Given the description of an element on the screen output the (x, y) to click on. 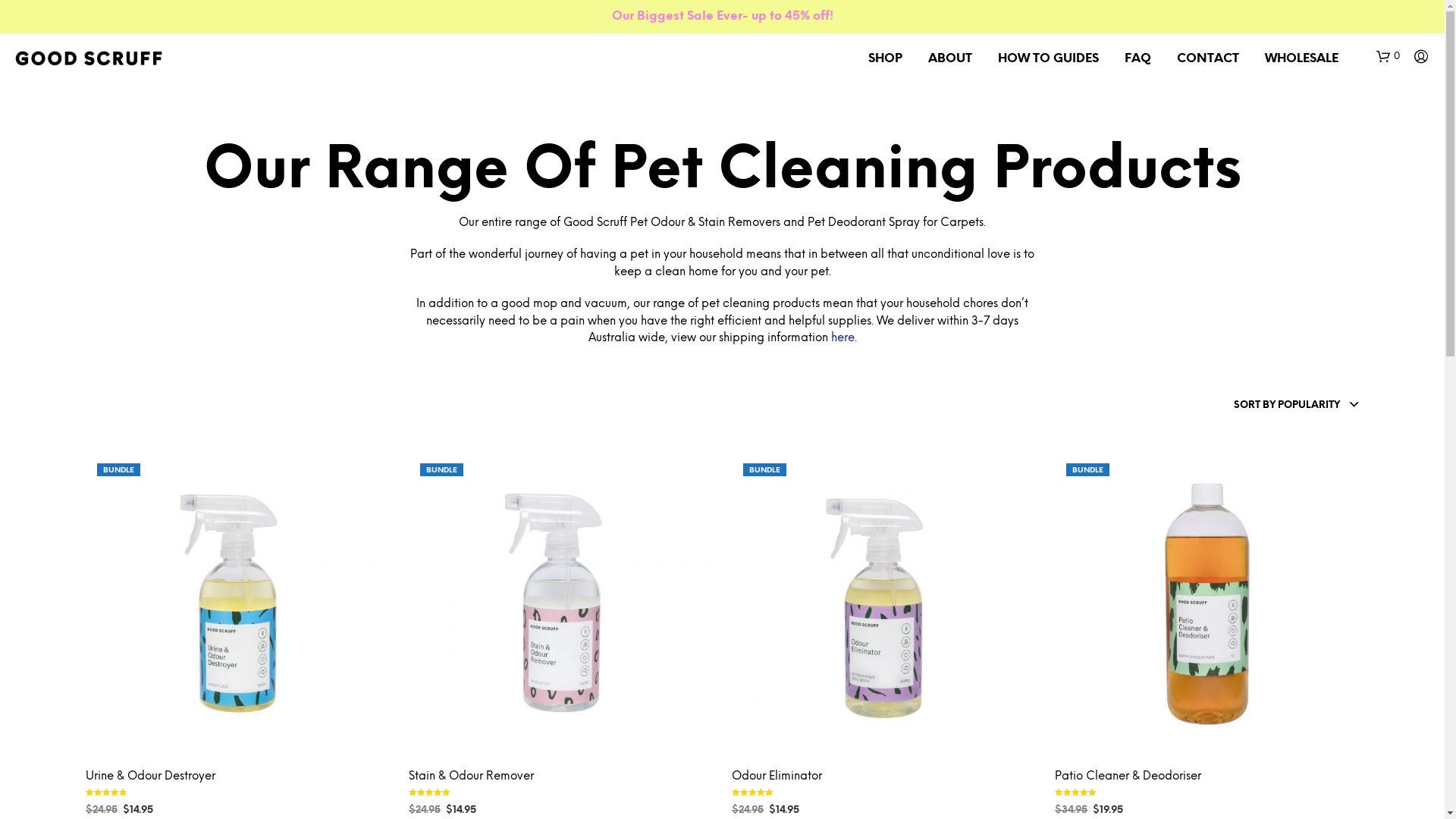
ABOUT Element type: text (949, 59)
Odour Eliminator Element type: text (776, 776)
HOW TO GUIDES Element type: text (1048, 59)
FAQ Element type: text (1137, 59)
Patio Cleaner & Deodoriser Element type: text (1127, 776)
here Element type: text (842, 338)
0 Element type: text (1387, 56)
Our Biggest Sale Ever- up to 45% off! Element type: text (721, 15)
Stain & Odour Remover Element type: text (470, 776)
Amazing plant-powered pet cleaning products Element type: hover (88, 57)
Urine & Odour Destroyer Element type: text (149, 776)
WHOLESALE Element type: text (1301, 59)
CONTACT Element type: text (1207, 59)
SHOP Element type: text (884, 59)
